Given the description of an element on the screen output the (x, y) to click on. 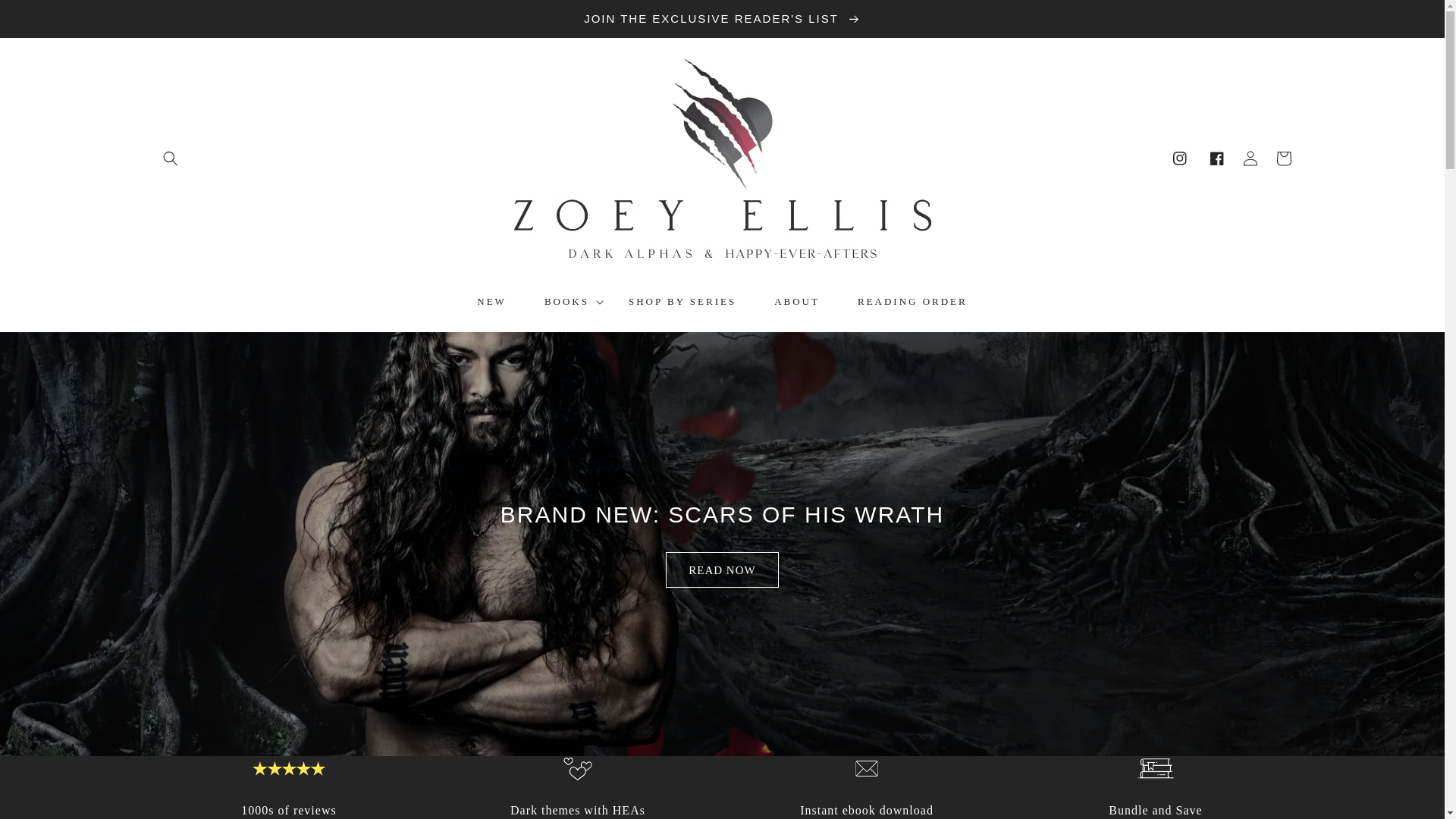
Cart (1283, 157)
READ NOW (721, 570)
ABOUT (796, 301)
Skip to content (45, 17)
SHOP BY SERIES (682, 301)
READING ORDER (912, 301)
Instagram (1179, 158)
NEW (491, 301)
Facebook (1217, 158)
Log in (1249, 157)
